Given the description of an element on the screen output the (x, y) to click on. 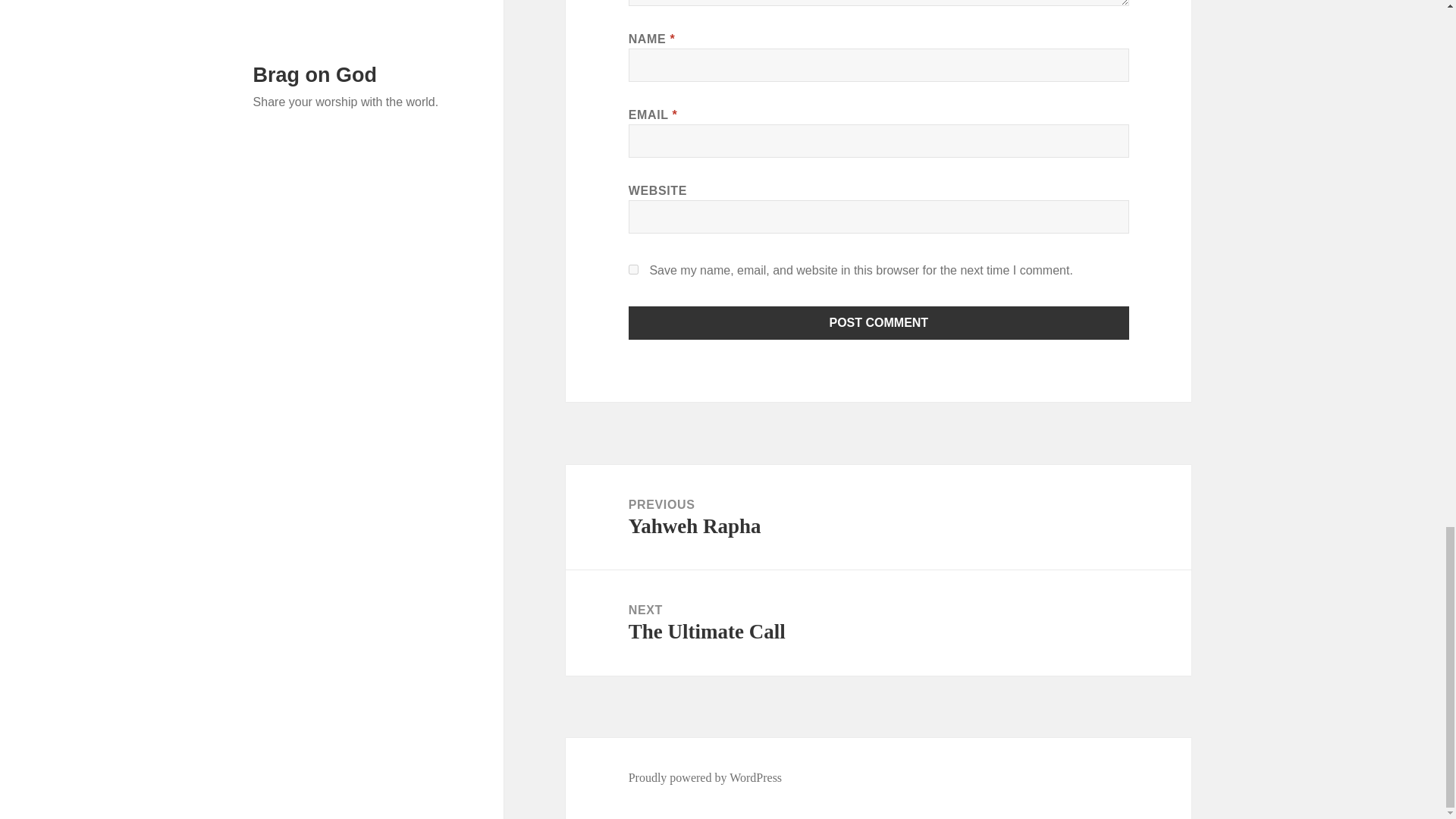
Proudly powered by WordPress (704, 777)
Post Comment (878, 517)
Post Comment (878, 322)
yes (878, 322)
